Given the description of an element on the screen output the (x, y) to click on. 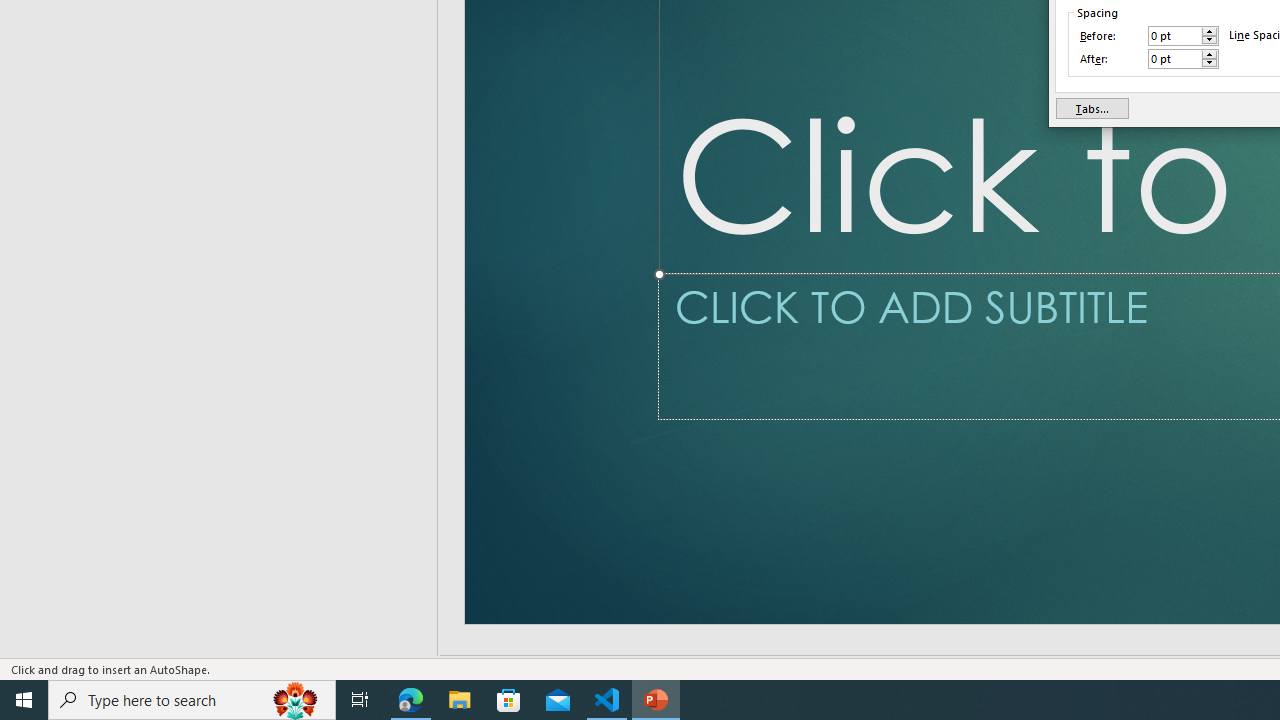
Before (1174, 35)
Before (1183, 35)
